Given the description of an element on the screen output the (x, y) to click on. 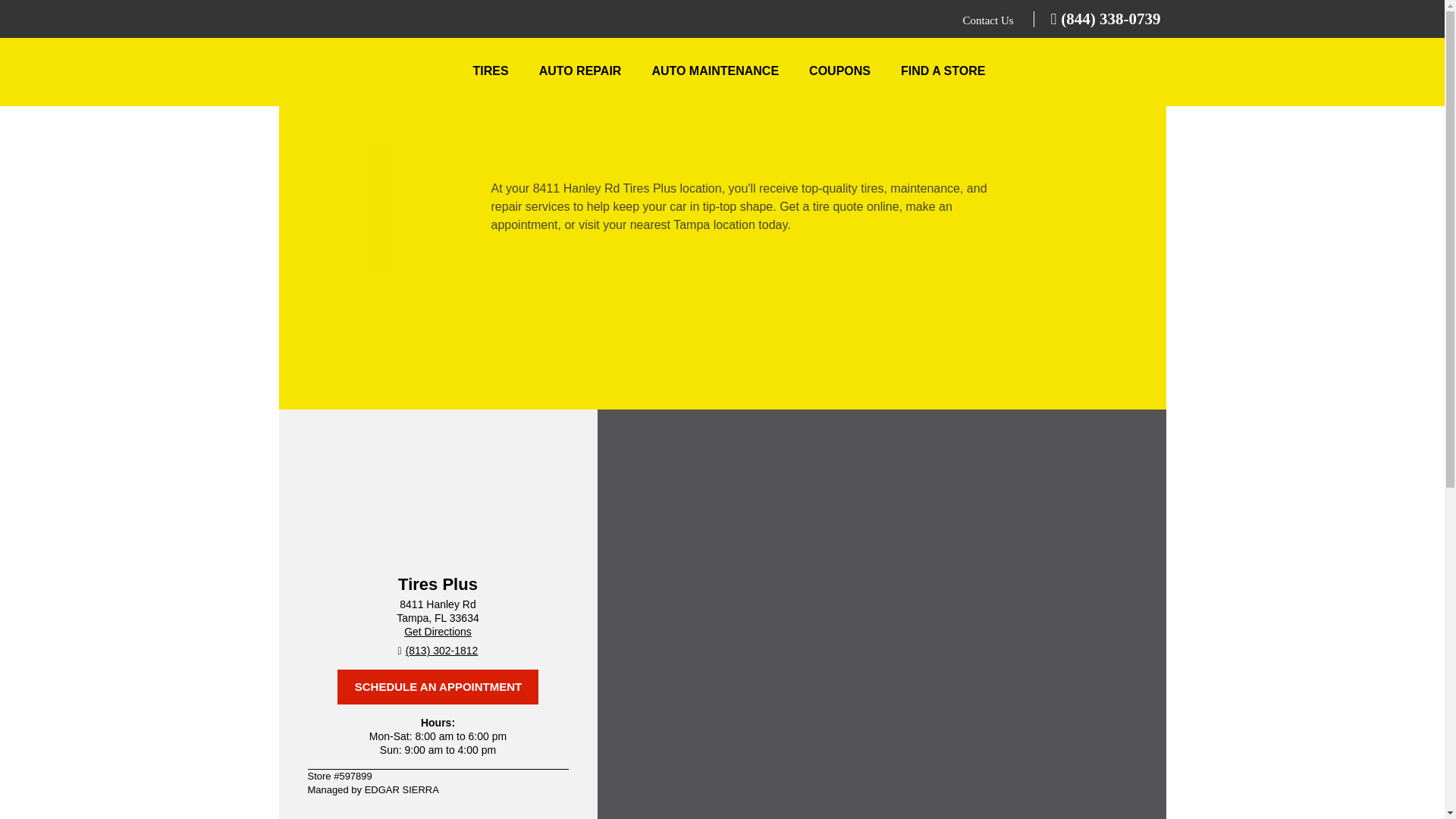
Contact Us (988, 20)
Get Directions (437, 631)
FIND A STORE (942, 71)
TIRES (491, 71)
AUTO REPAIR (580, 71)
COUPONS (839, 71)
SCHEDULE AN APPOINTMENT (437, 686)
Tires Plus (368, 73)
AUTO MAINTENANCE (714, 71)
